Given the description of an element on the screen output the (x, y) to click on. 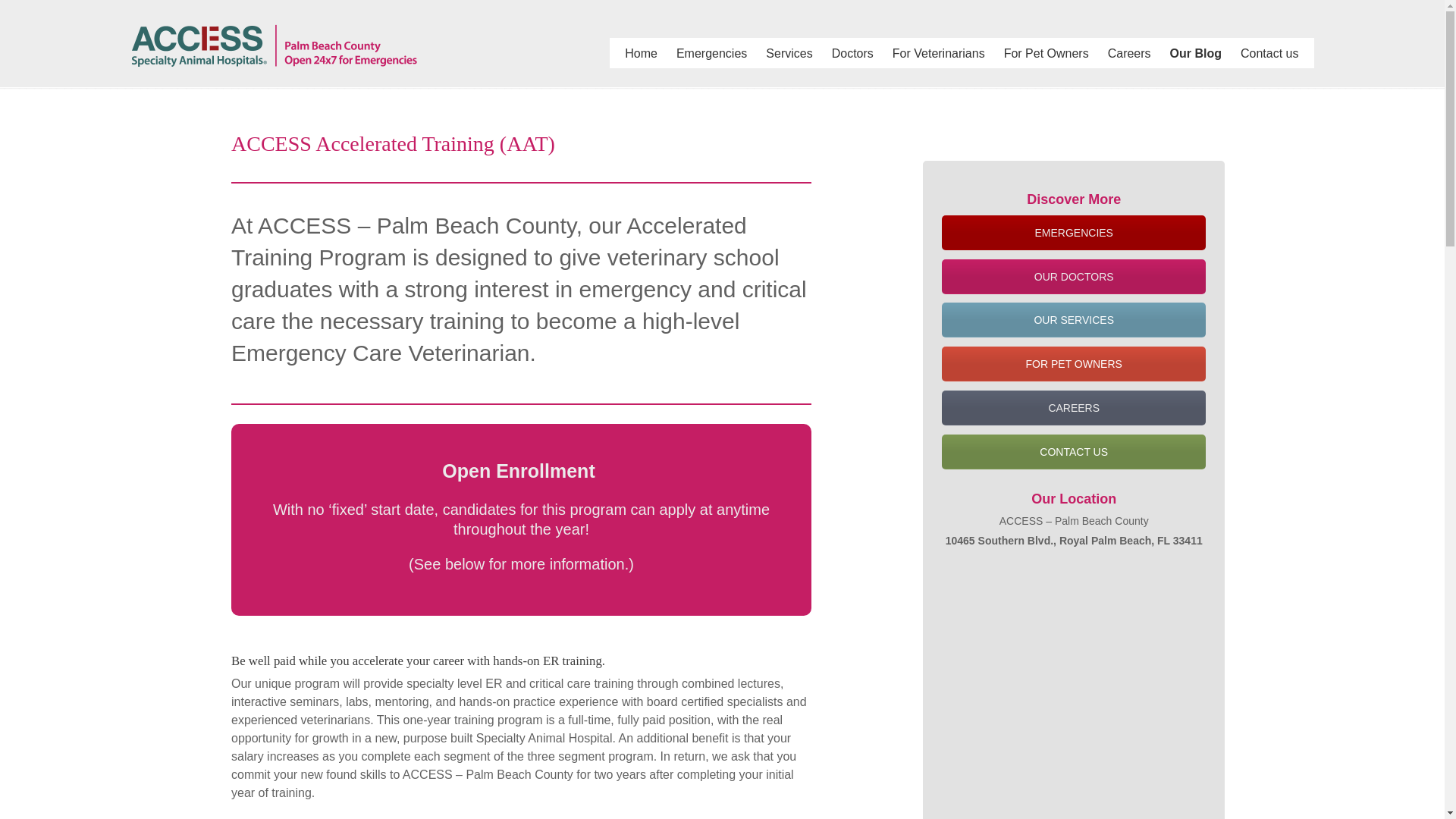
OUR SERVICES (1073, 319)
OUR SERVICES (1073, 319)
Home (641, 53)
CONTACT US (1073, 451)
Our Blog (1195, 53)
Pet Emergencies (1073, 232)
CAREERS (1073, 407)
Contact us (1073, 451)
For Pet Owners (1045, 53)
For Pet Owners (1073, 363)
Doctors (852, 53)
For Veterinarians (938, 53)
Contact us (1269, 53)
EMERGENCIES (1073, 232)
OUR DOCTORS (1073, 276)
